Given the description of an element on the screen output the (x, y) to click on. 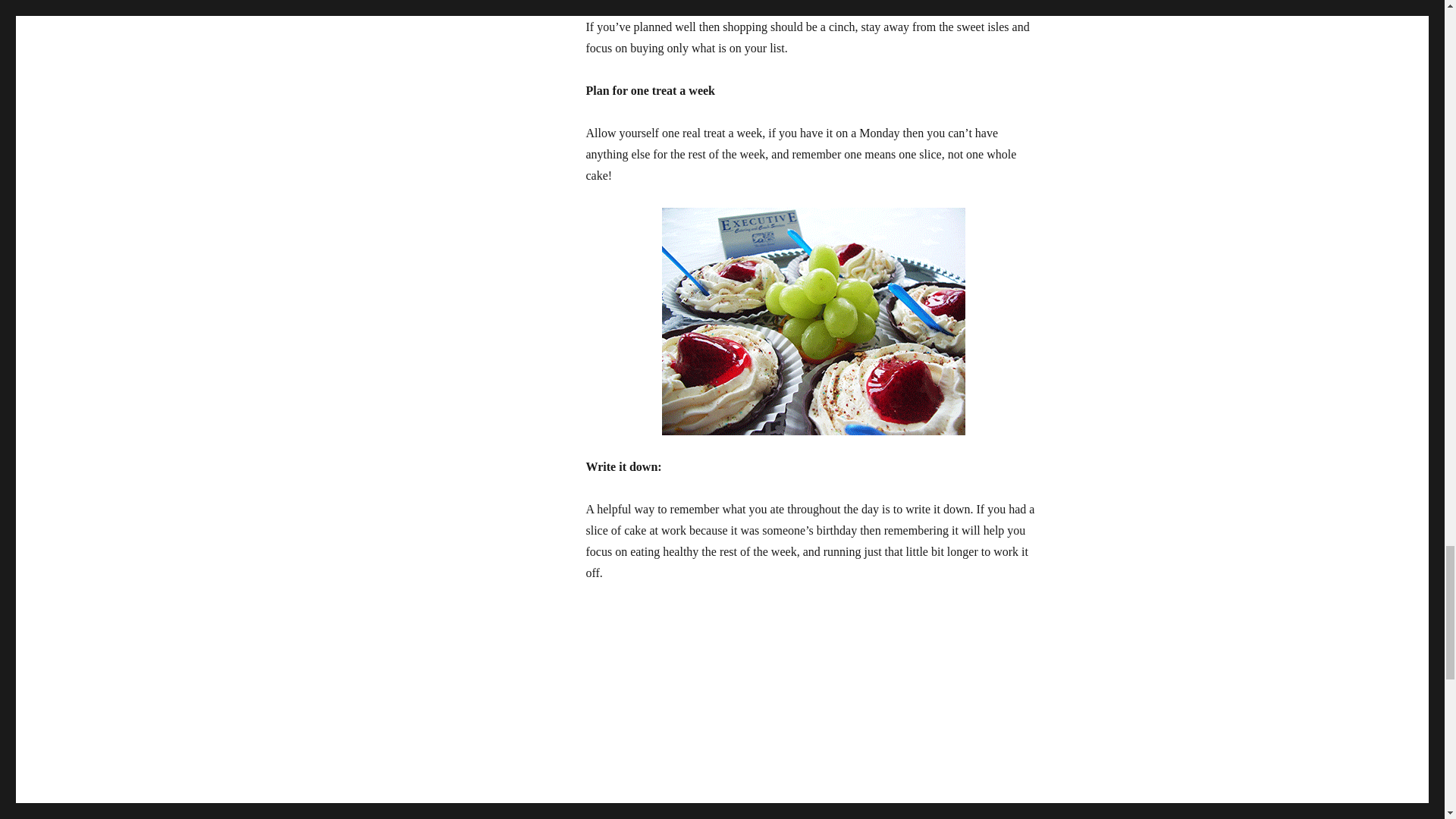
Losing weight (620, 815)
